Given the description of an element on the screen output the (x, y) to click on. 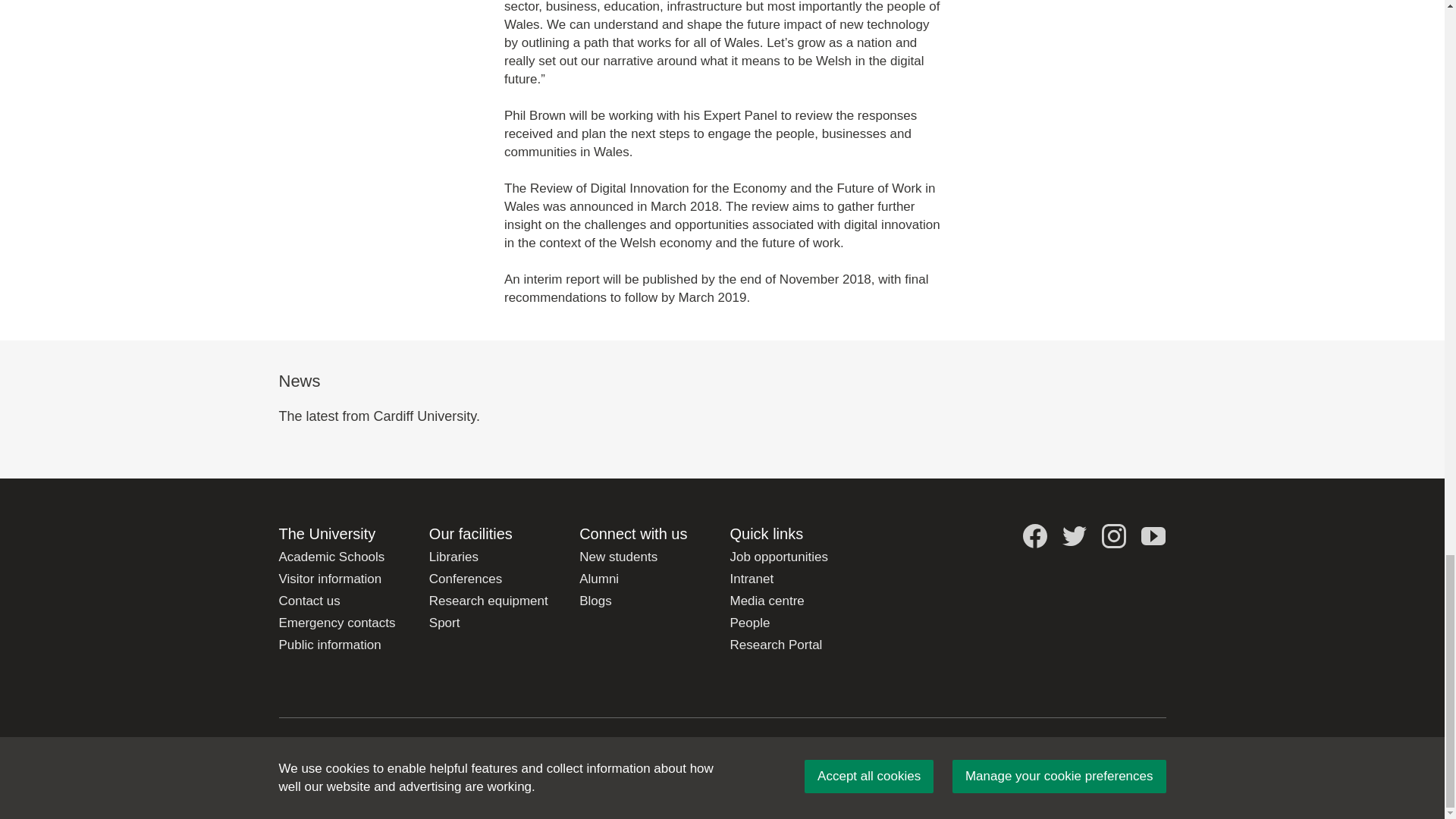
facebook (1034, 535)
Youtube (1153, 535)
twitter no background icon (1074, 535)
instagram (1113, 535)
